Given the description of an element on the screen output the (x, y) to click on. 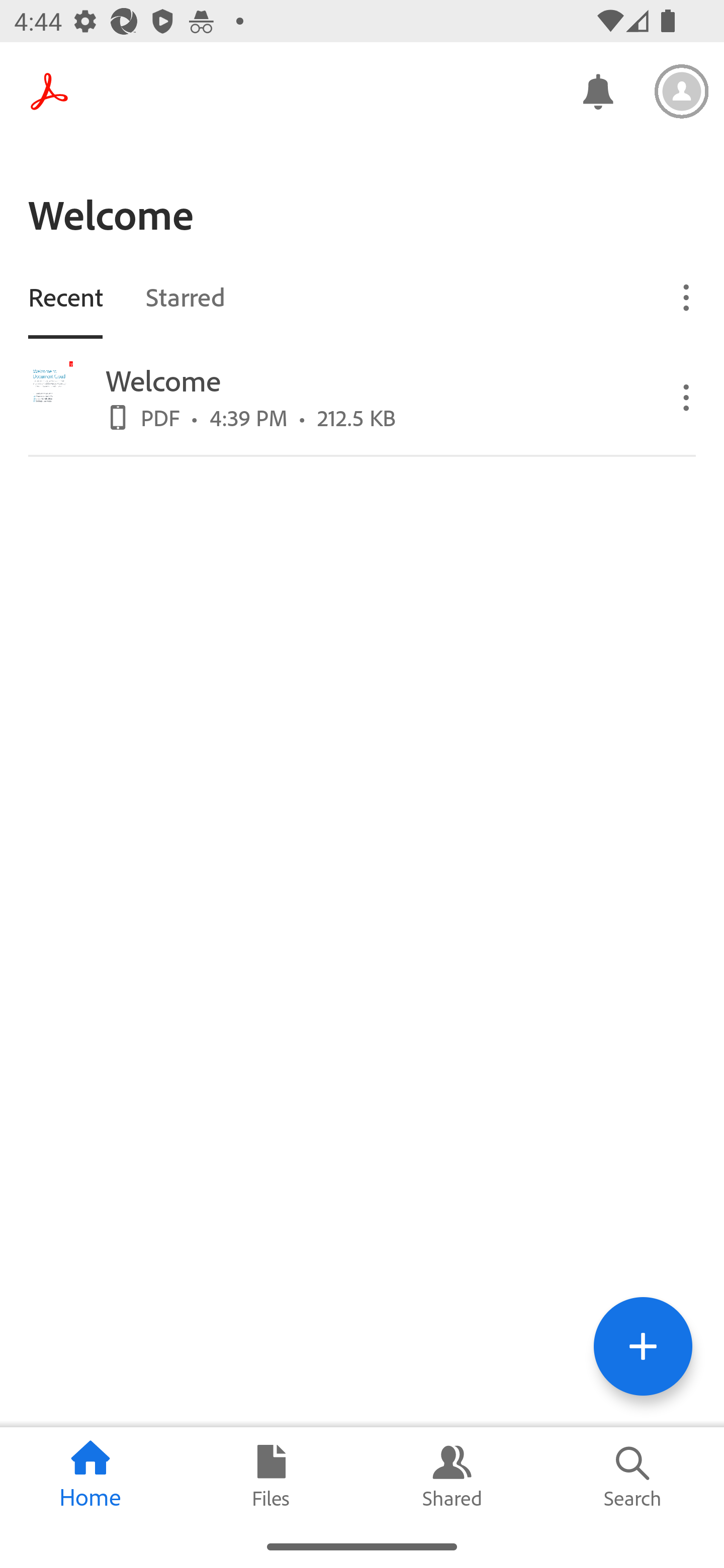
Notifications (597, 90)
Settings (681, 91)
Recent (65, 296)
Starred (185, 296)
Overflow (687, 296)
Overflow (687, 396)
Tools (642, 1345)
Home (90, 1475)
Files (271, 1475)
Shared (452, 1475)
Search (633, 1475)
